Given the description of an element on the screen output the (x, y) to click on. 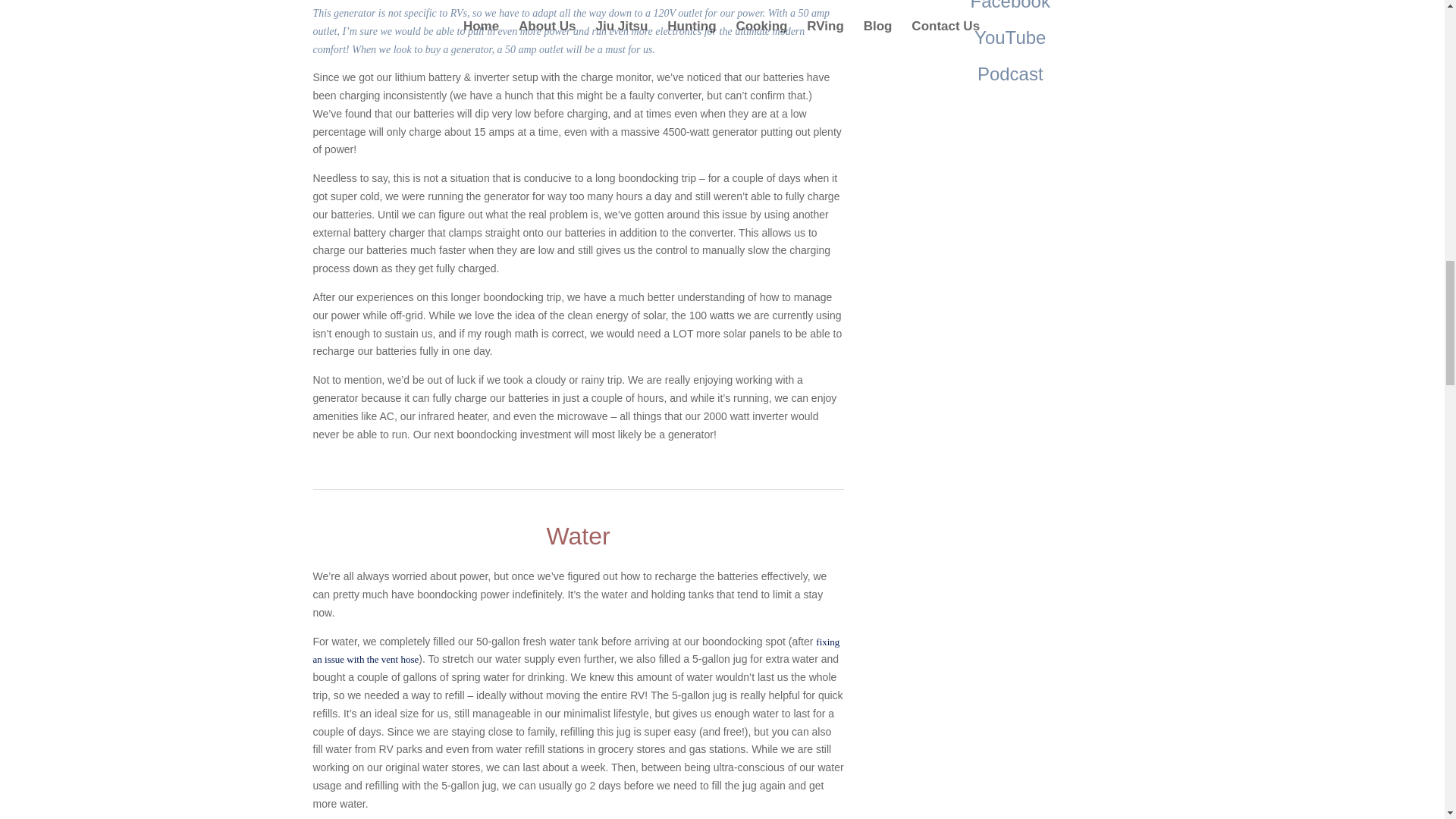
Podcast (1009, 73)
fixing an issue with the vent hose (576, 650)
Facebook (1010, 5)
YouTube (1009, 37)
